Given the description of an element on the screen output the (x, y) to click on. 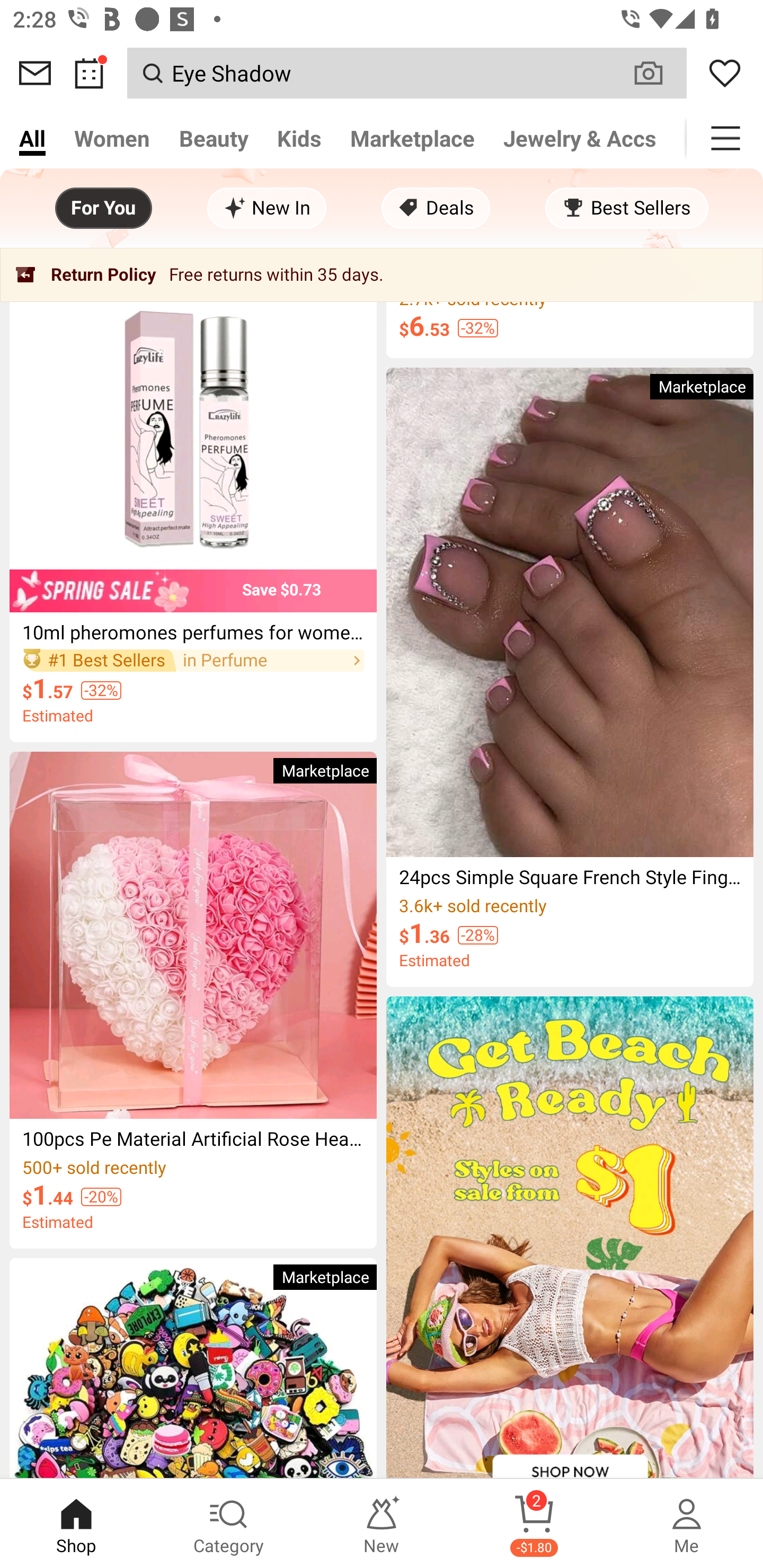
Wishlist (724, 72)
VISUAL SEARCH (657, 72)
All (31, 137)
Women (111, 137)
Beauty (213, 137)
Kids (298, 137)
Marketplace (412, 137)
Jewelry & Accs (580, 137)
New In (266, 207)
Deals (435, 207)
Best Sellers (626, 207)
#1 Best Sellers in Perfume (192, 659)
Category (228, 1523)
New (381, 1523)
Cart 2 -$1.80 (533, 1523)
Me (686, 1523)
